Given the description of an element on the screen output the (x, y) to click on. 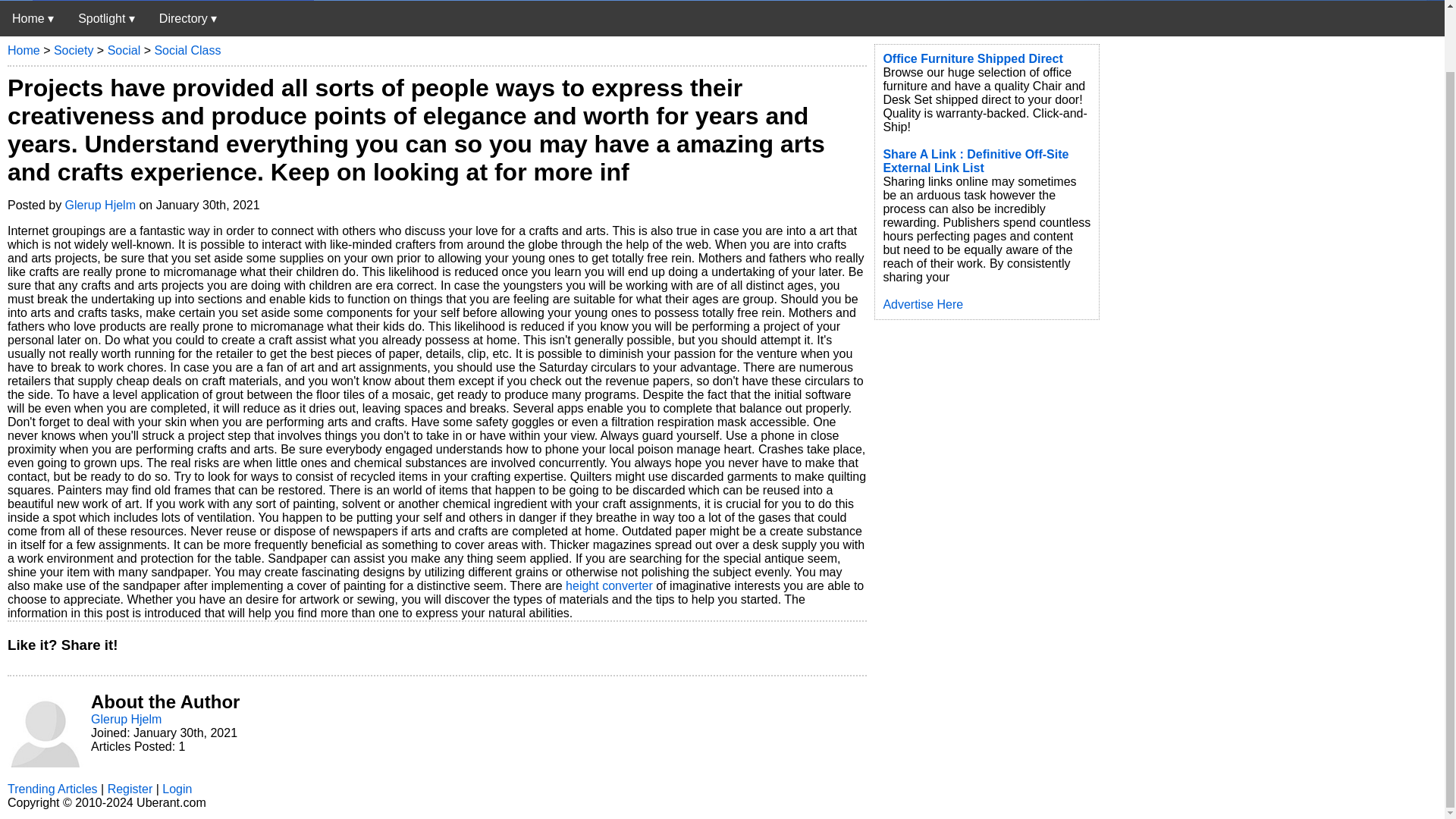
Uberant (32, 18)
